Given the description of an element on the screen output the (x, y) to click on. 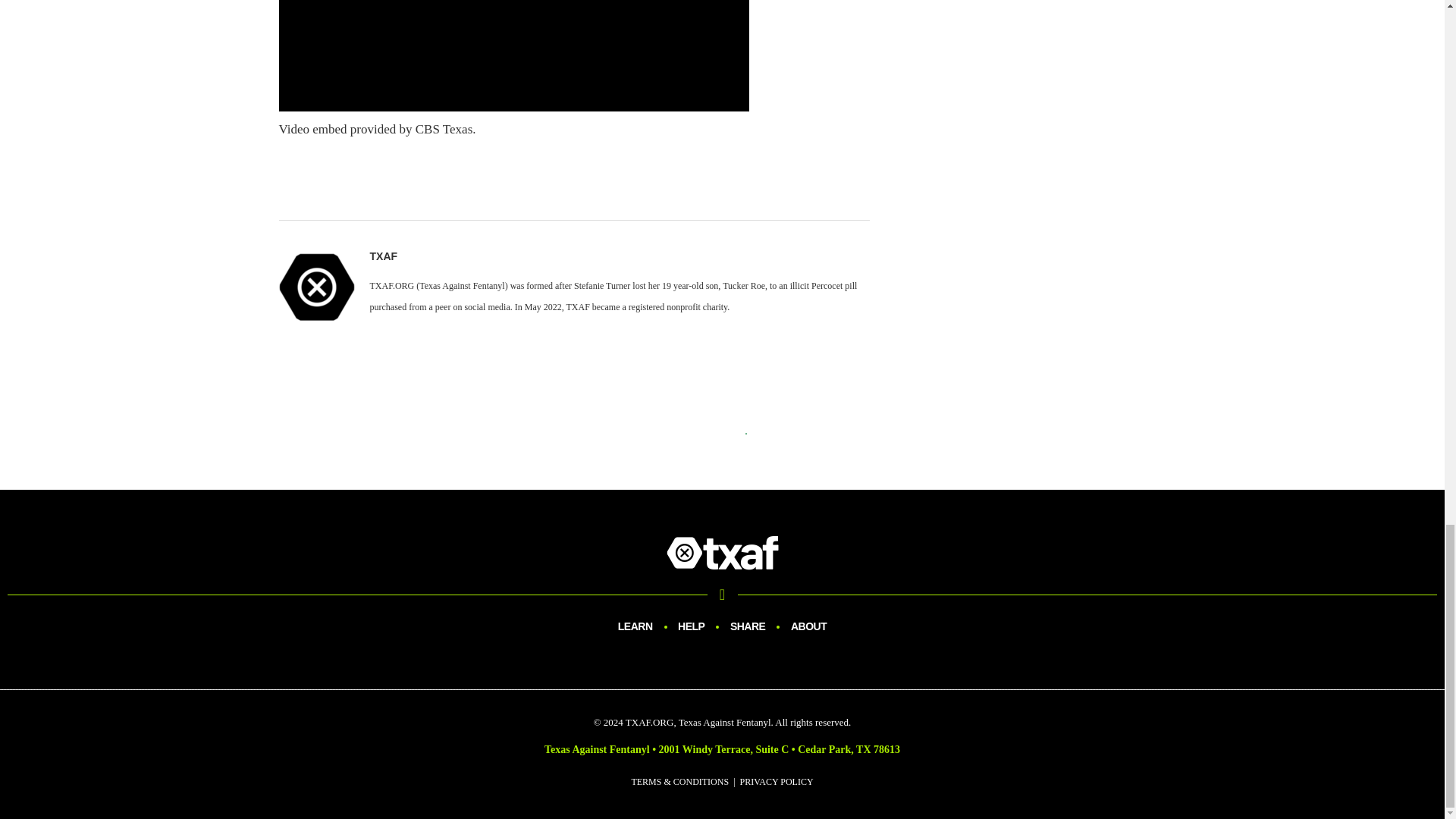
Author TXAF (383, 256)
logo3 (721, 552)
